Given the description of an element on the screen output the (x, y) to click on. 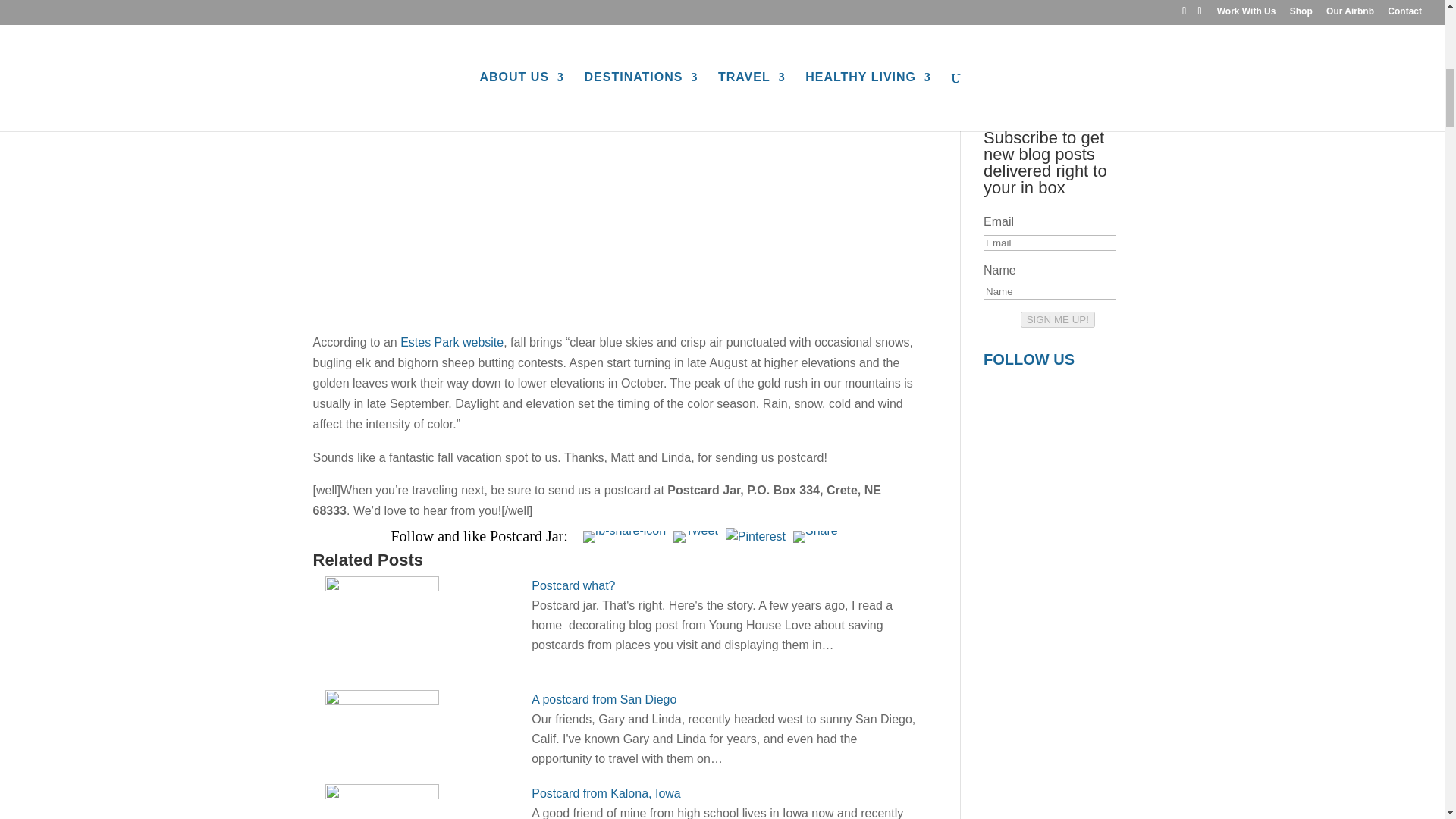
Facebook Share (624, 536)
Share (815, 536)
Pinterest (755, 536)
Tweet (694, 536)
